Given the description of an element on the screen output the (x, y) to click on. 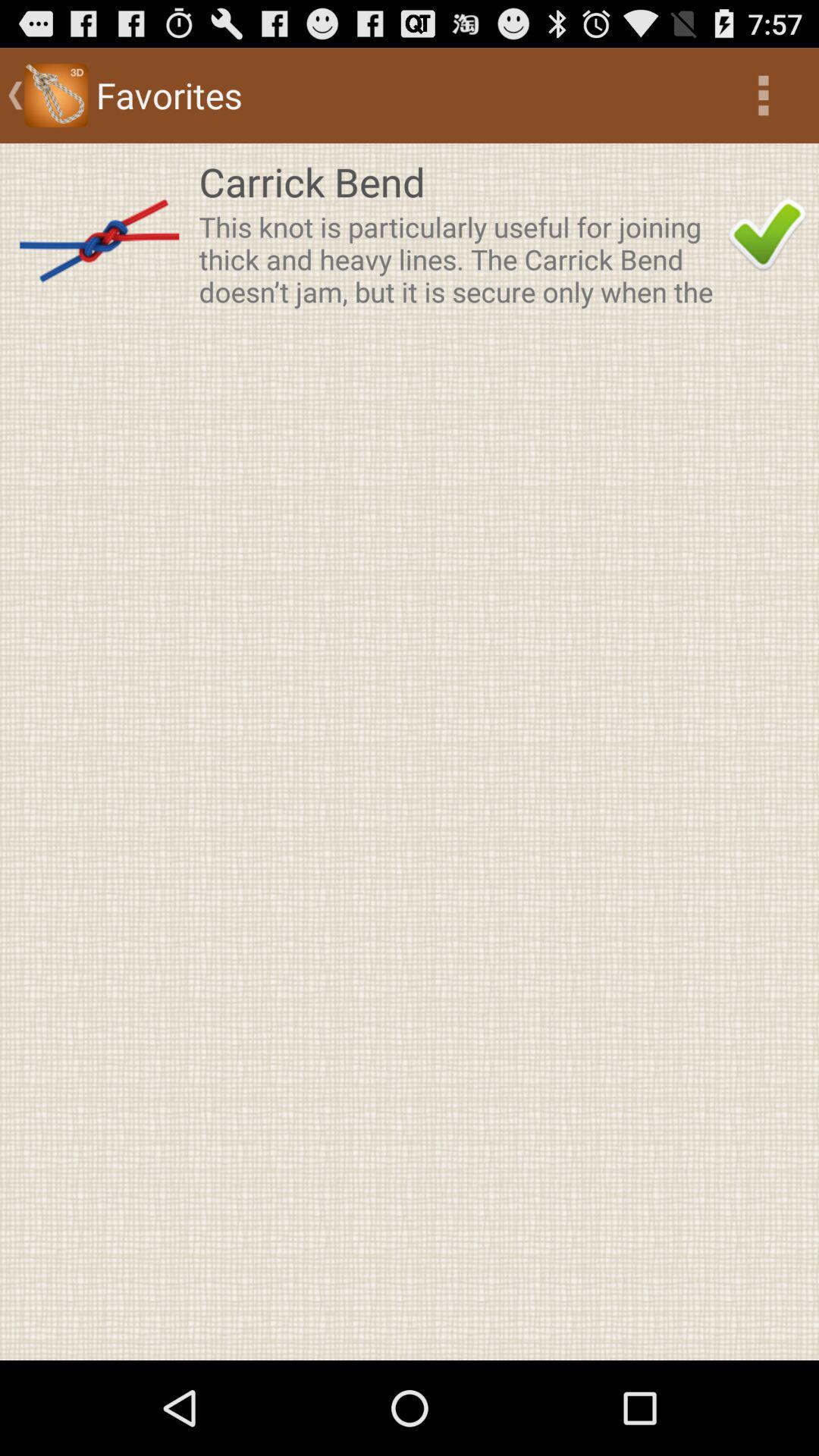
tap the this knot is (459, 258)
